Given the description of an element on the screen output the (x, y) to click on. 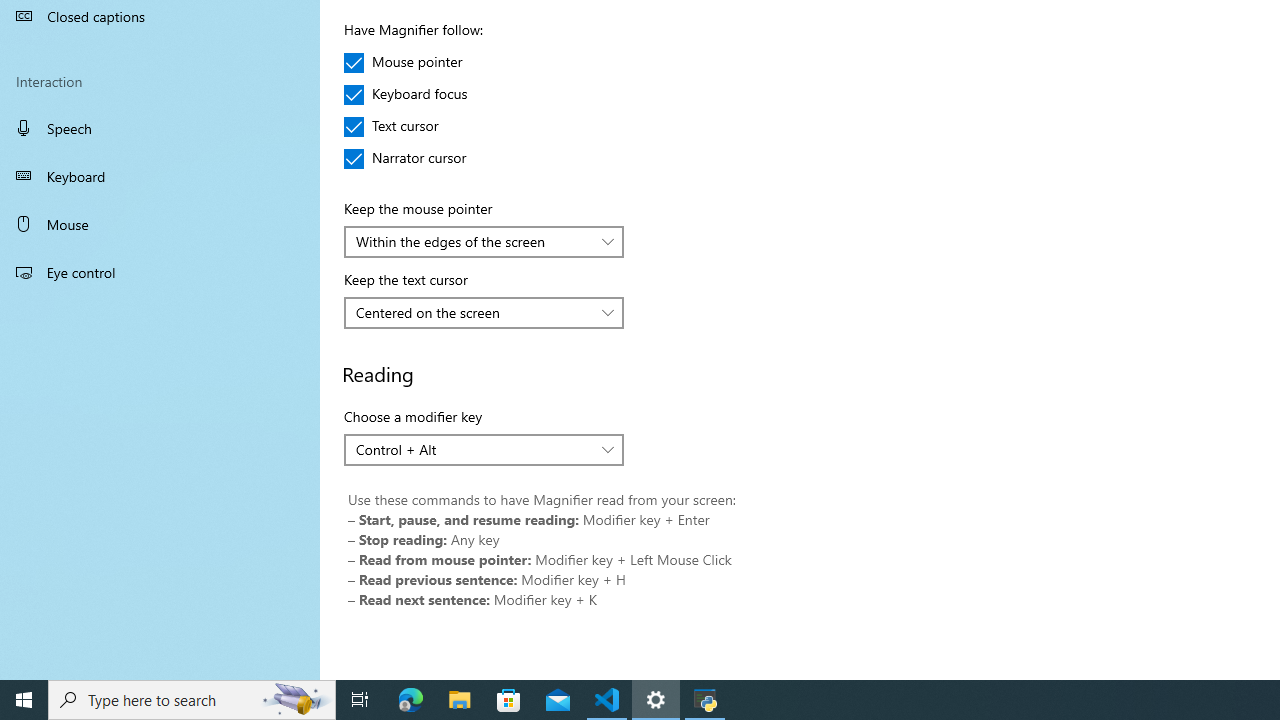
Mouse (160, 223)
Text cursor (403, 126)
Eye control (160, 271)
Control + Alt (473, 449)
Keep the text cursor (484, 312)
Choose a modifier key (484, 449)
Narrator cursor (405, 158)
Speech (160, 127)
Mouse pointer (403, 62)
Centered on the screen (473, 312)
Keep the mouse pointer (484, 241)
